Given the description of an element on the screen output the (x, y) to click on. 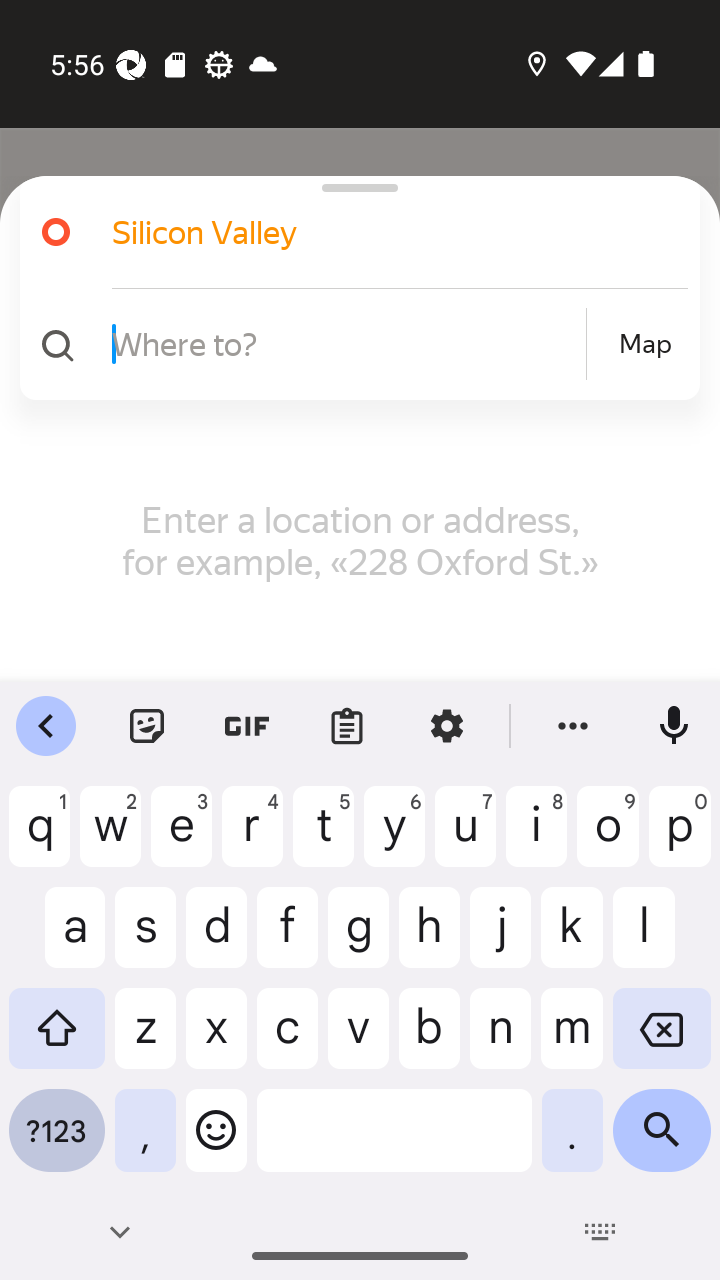
Silicon Valley (352, 232)
Silicon Valley (373, 232)
Where to? Map Map (352, 343)
Map (645, 343)
Where to? (346, 343)
